Given the description of an element on the screen output the (x, y) to click on. 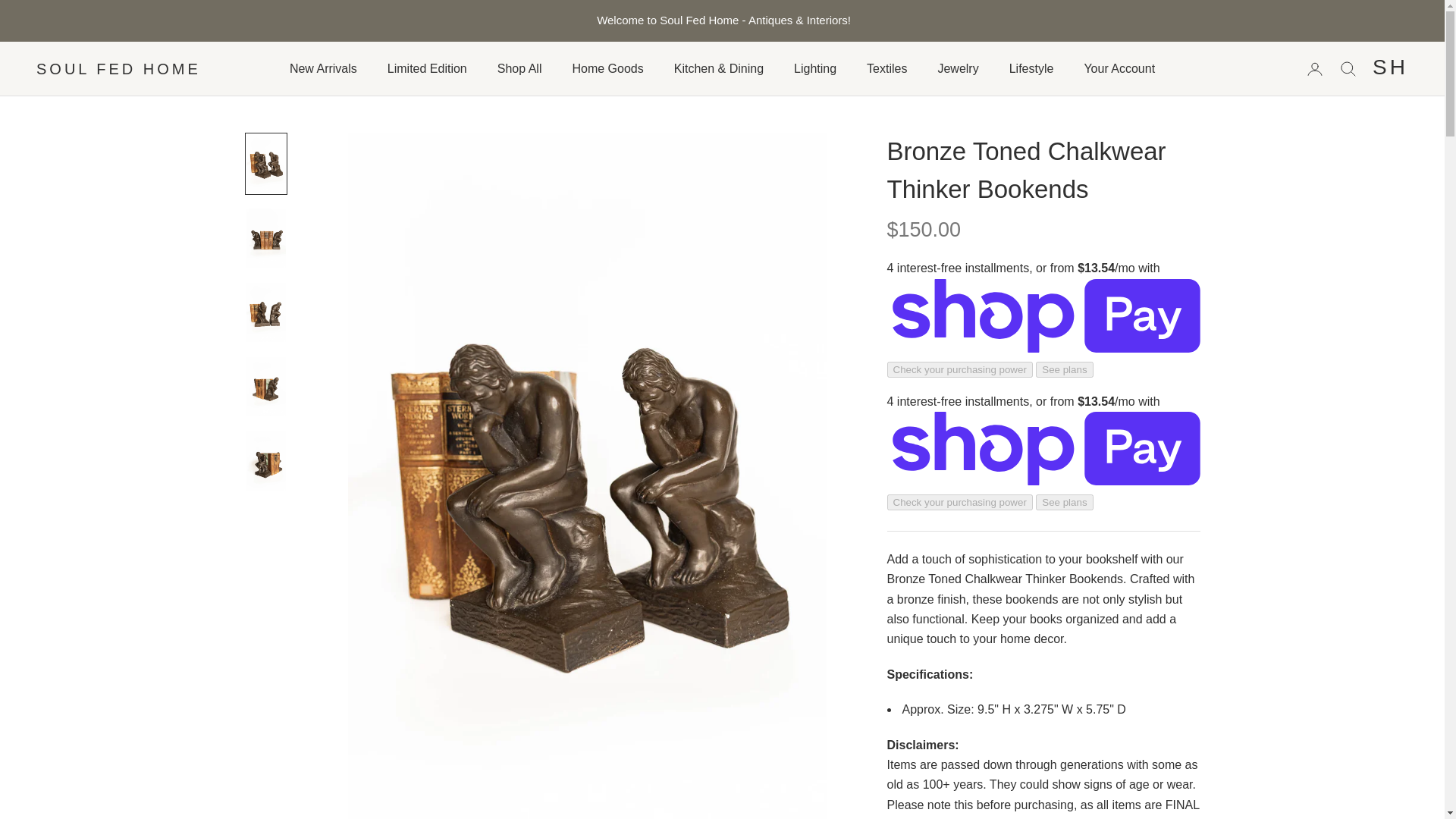
New Arrivals (322, 68)
SOUL FED HOME (118, 68)
Limited Edition (427, 68)
Shop All (519, 68)
